Given the description of an element on the screen output the (x, y) to click on. 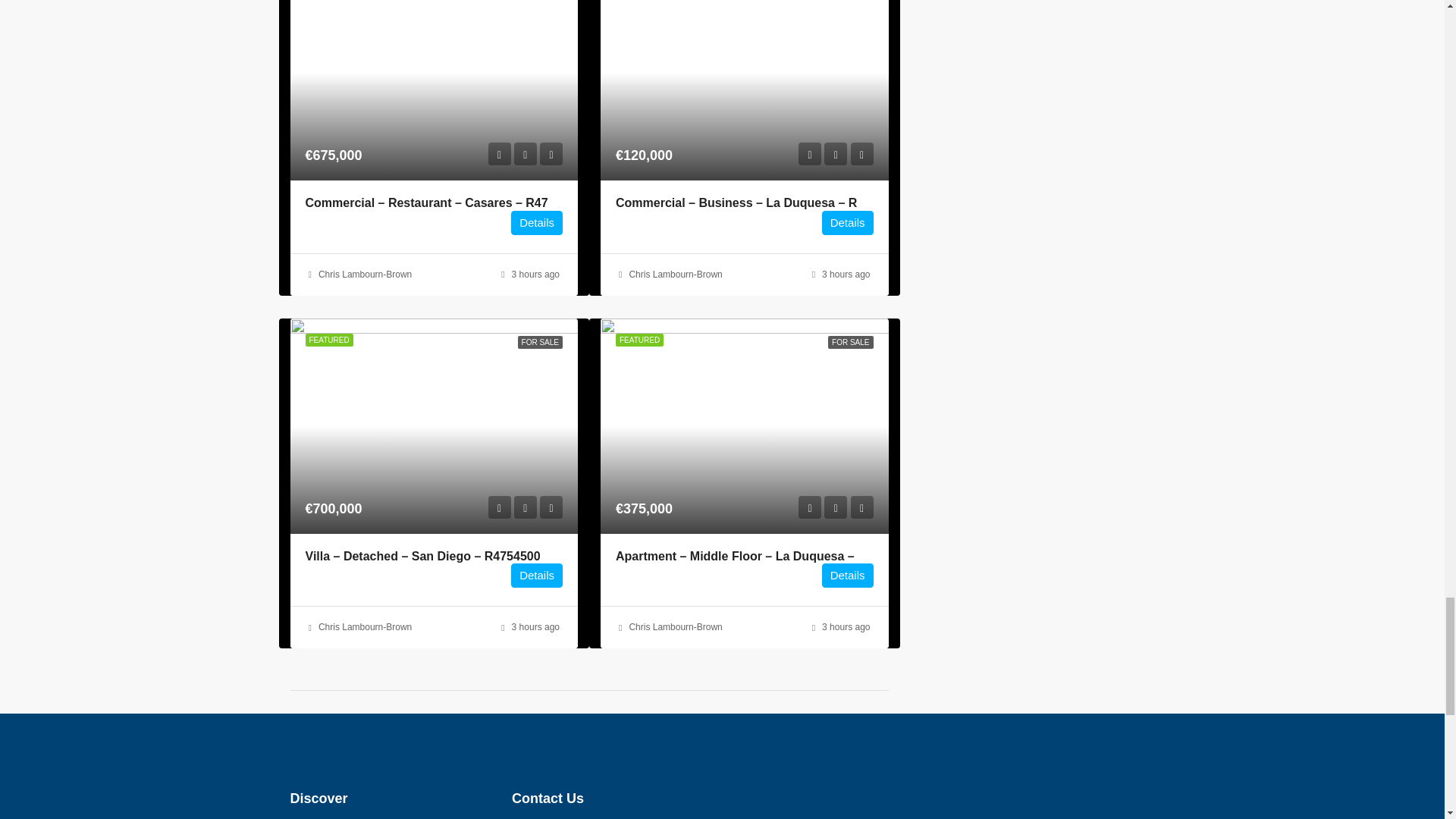
Favourite (835, 153)
Favourite (525, 153)
Favourite (525, 507)
Favourite (835, 507)
Preview (809, 507)
Add to Compare (551, 153)
Preview (499, 507)
Preview (809, 153)
Preview (499, 153)
Add to Compare (551, 507)
Add to Compare (861, 153)
